Given the description of an element on the screen output the (x, y) to click on. 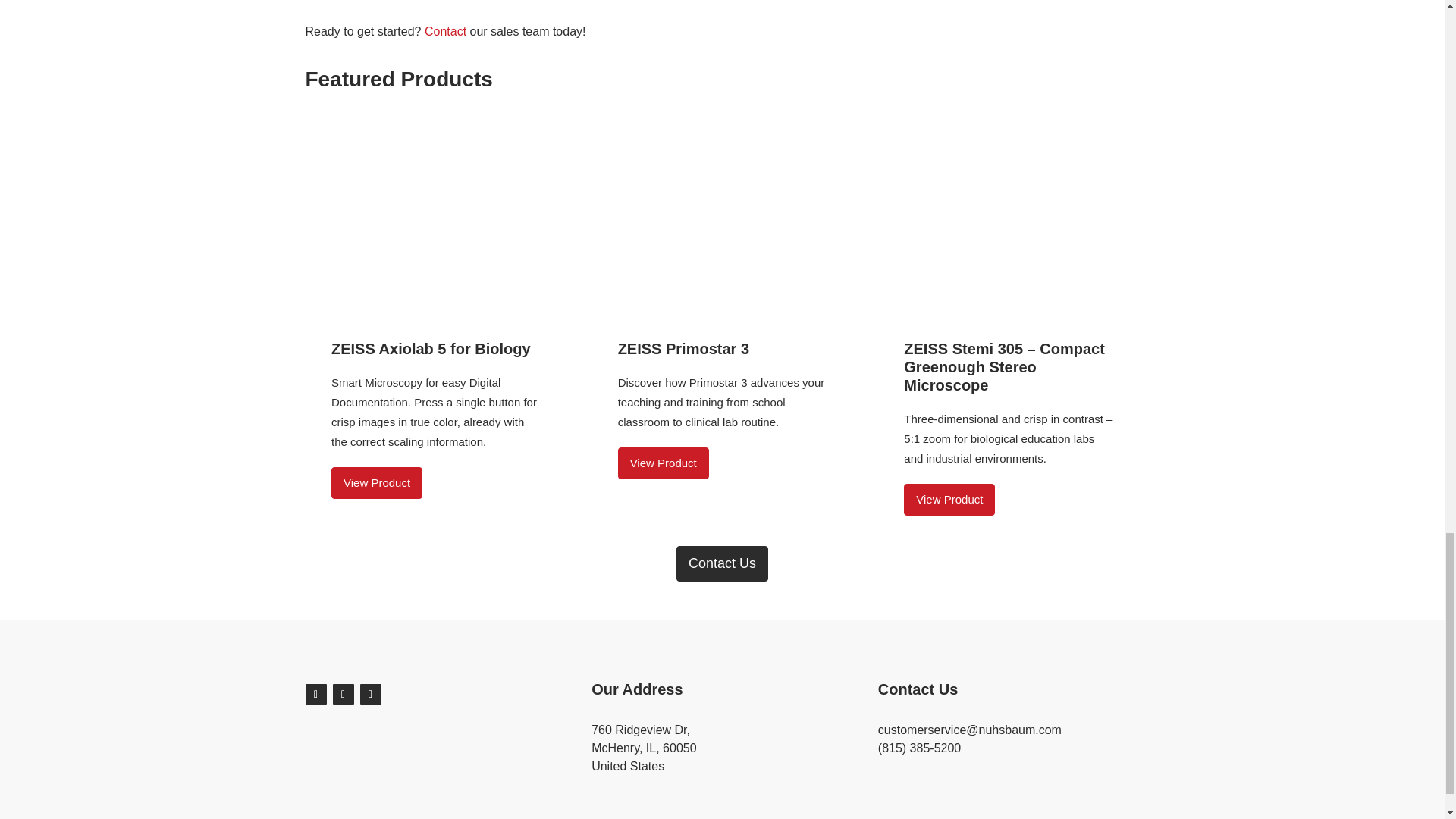
Follow on X (342, 694)
View Product (949, 499)
View Product (663, 463)
Contact Us (722, 563)
ZEISS Primostar 3 (722, 356)
Contact (445, 31)
Follow on Facebook (315, 694)
View Product (376, 482)
Follow on LinkedIn (369, 694)
ZEISS Axiolab 5 for Biology (435, 356)
